Given the description of an element on the screen output the (x, y) to click on. 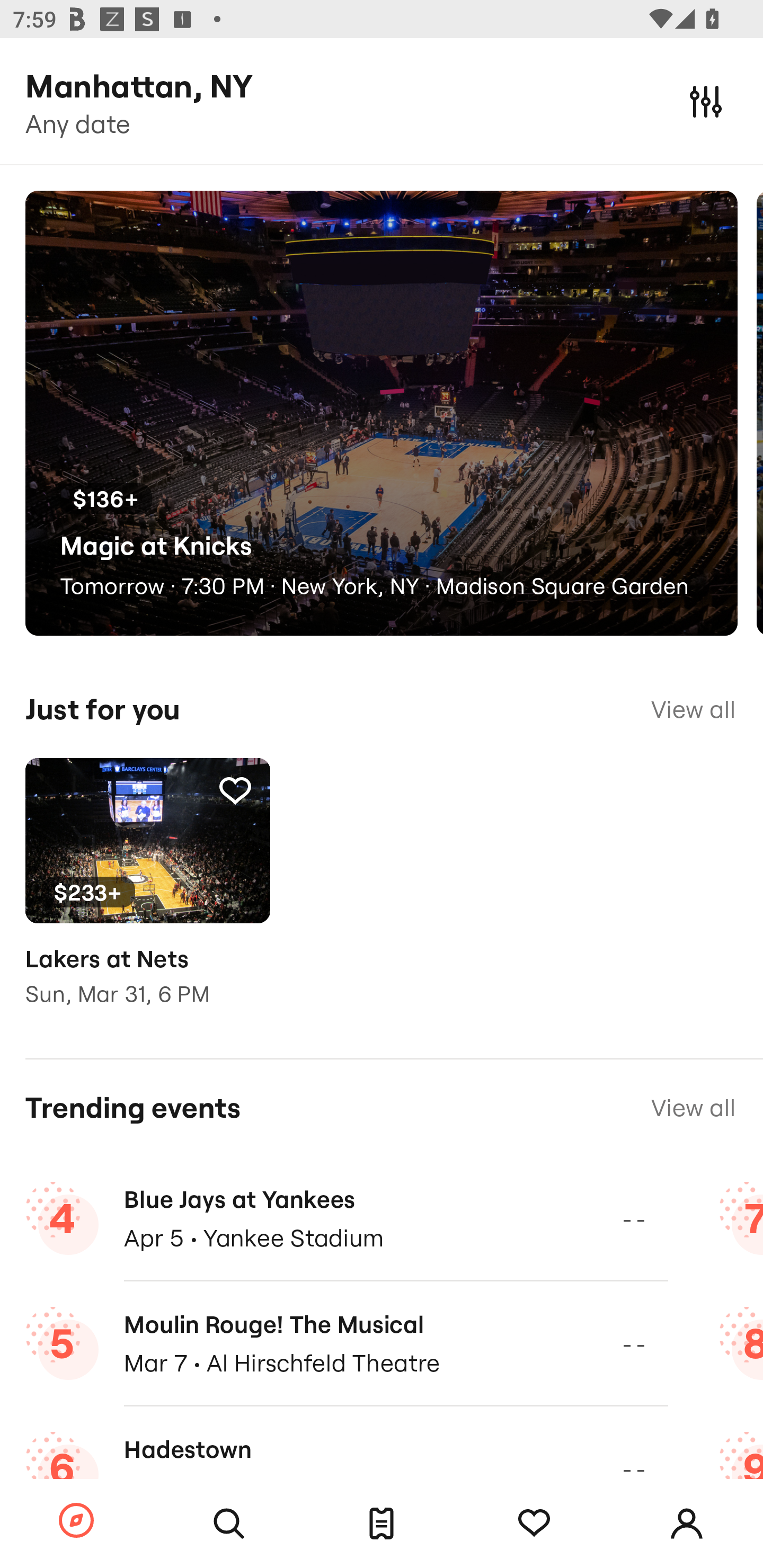
Filters (705, 100)
View all (693, 709)
Tracking $233+ Lakers at Nets Sun, Mar 31, 6 PM (147, 895)
Tracking (234, 790)
View all (693, 1108)
Browse (76, 1521)
Search (228, 1523)
Tickets (381, 1523)
Tracking (533, 1523)
Account (686, 1523)
